Given the description of an element on the screen output the (x, y) to click on. 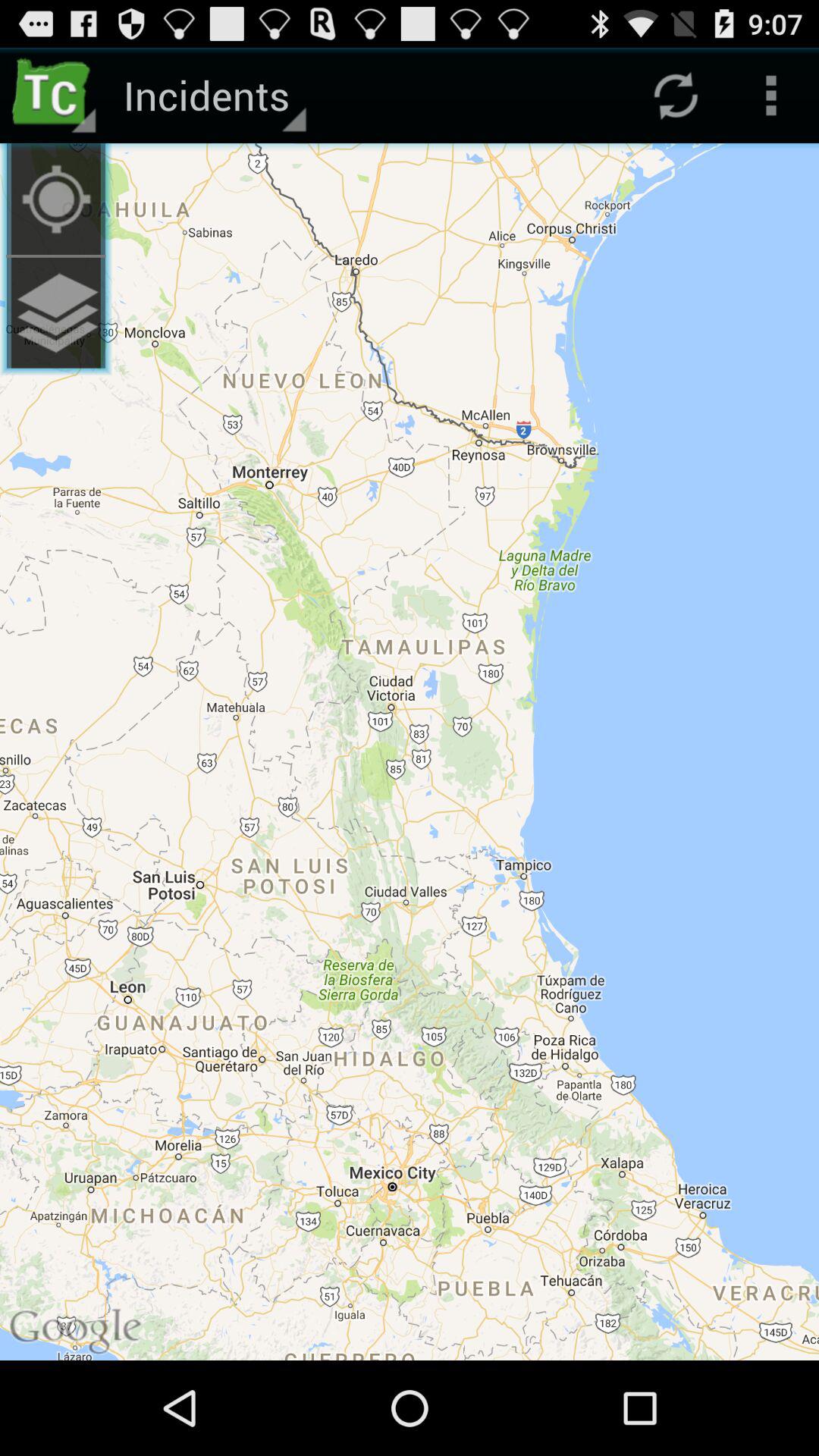
open incidents item (212, 95)
